Given the description of an element on the screen output the (x, y) to click on. 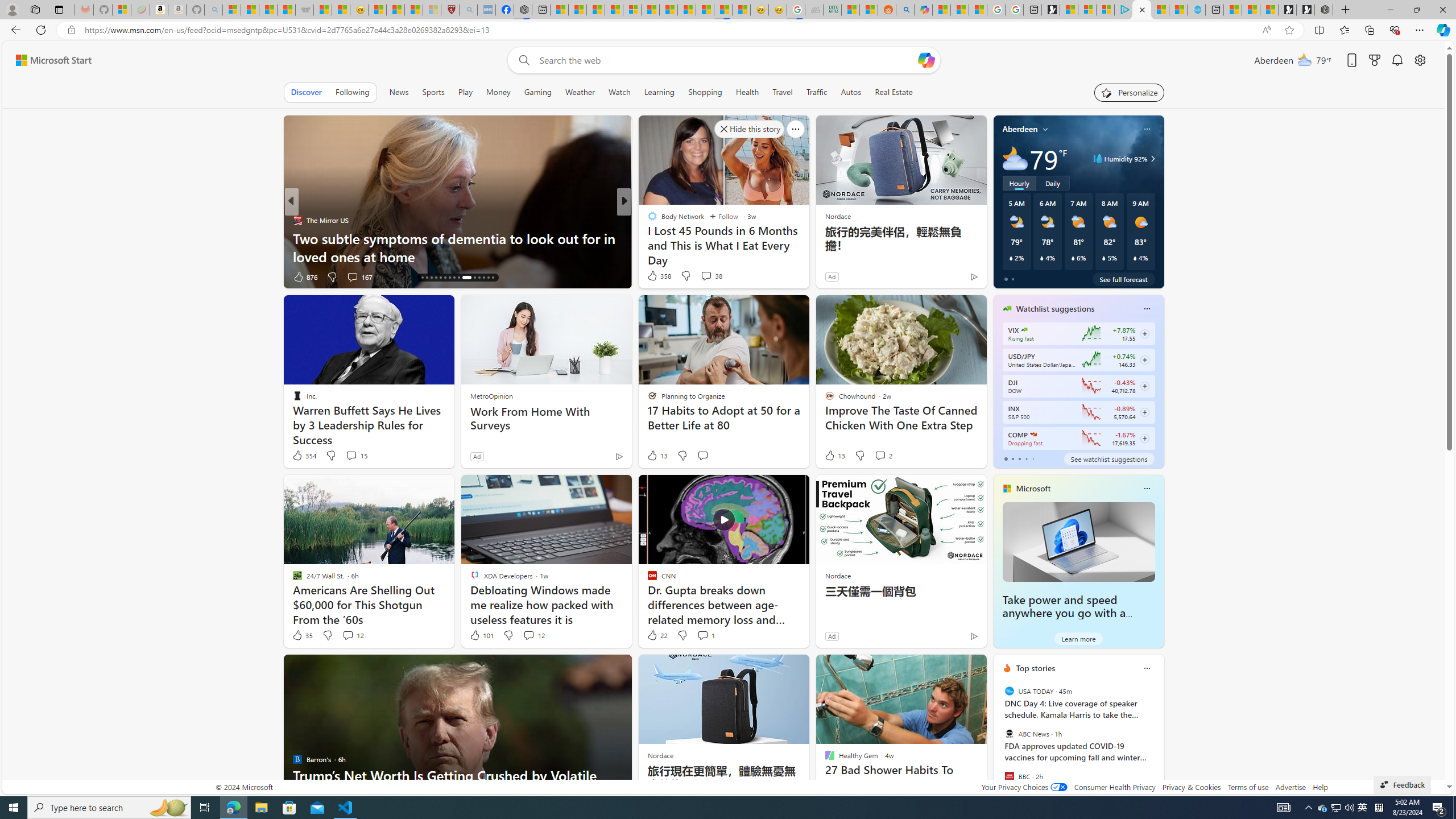
452 Like (654, 276)
View comments 66 Comment (6, 276)
View comments 2 Comment (879, 455)
Microsoft Start (1159, 9)
Copilot (Ctrl+Shift+.) (1442, 29)
View comments 1 Comment (703, 635)
Browser essentials (1394, 29)
Microsoft account | Privacy (1105, 9)
AutomationID: tab-25 (463, 277)
See full forecast (1123, 278)
415 Like (654, 276)
View comments 38 Comment (710, 275)
Take power and speed anywhere you go with a Windows laptop. (1063, 613)
